Given the description of an element on the screen output the (x, y) to click on. 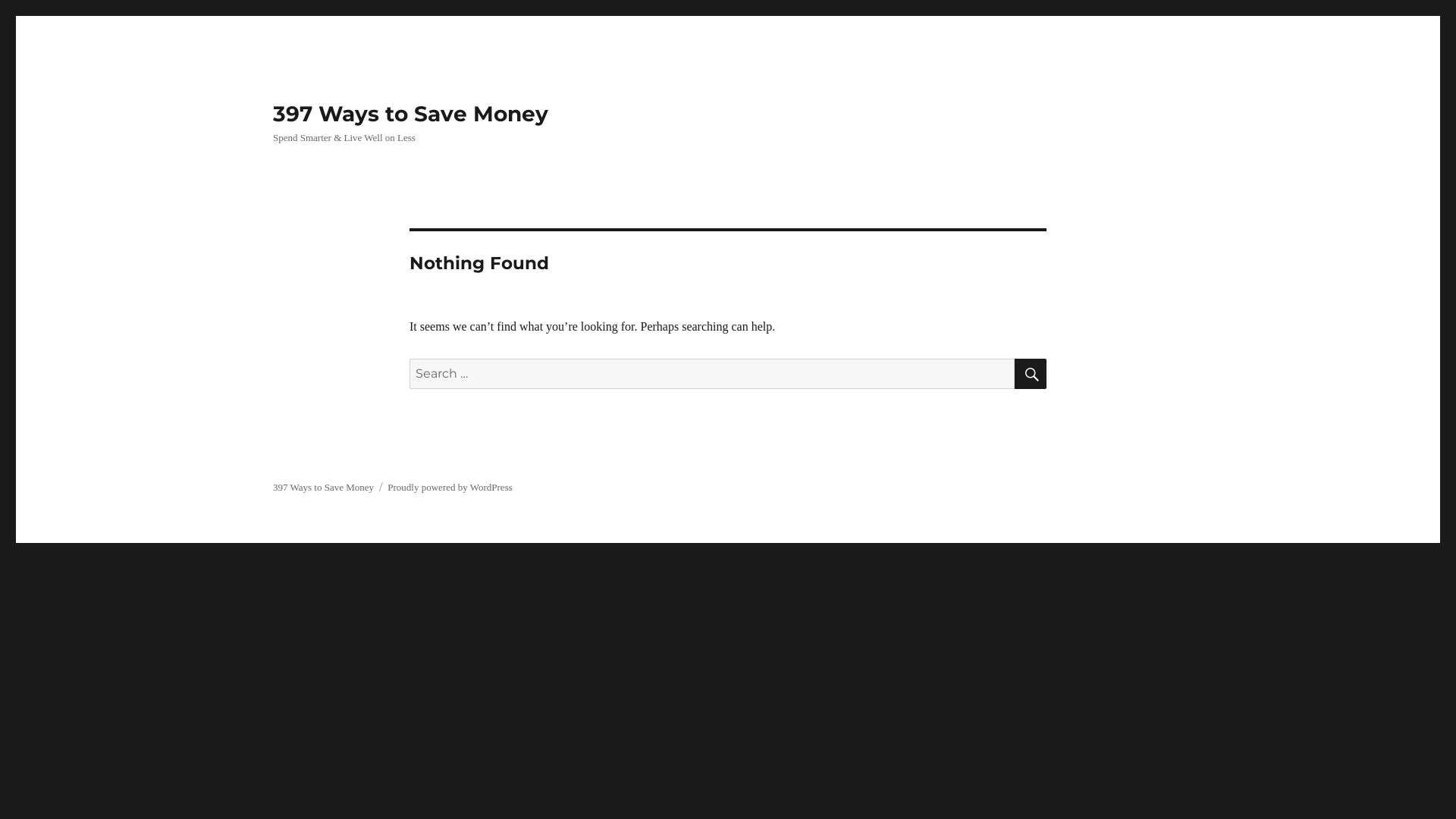
Proudly powered by WordPress Element type: text (449, 486)
397 Ways to Save Money Element type: text (323, 486)
SEARCH Element type: text (1030, 373)
397 Ways to Save Money Element type: text (410, 113)
